Given the description of an element on the screen output the (x, y) to click on. 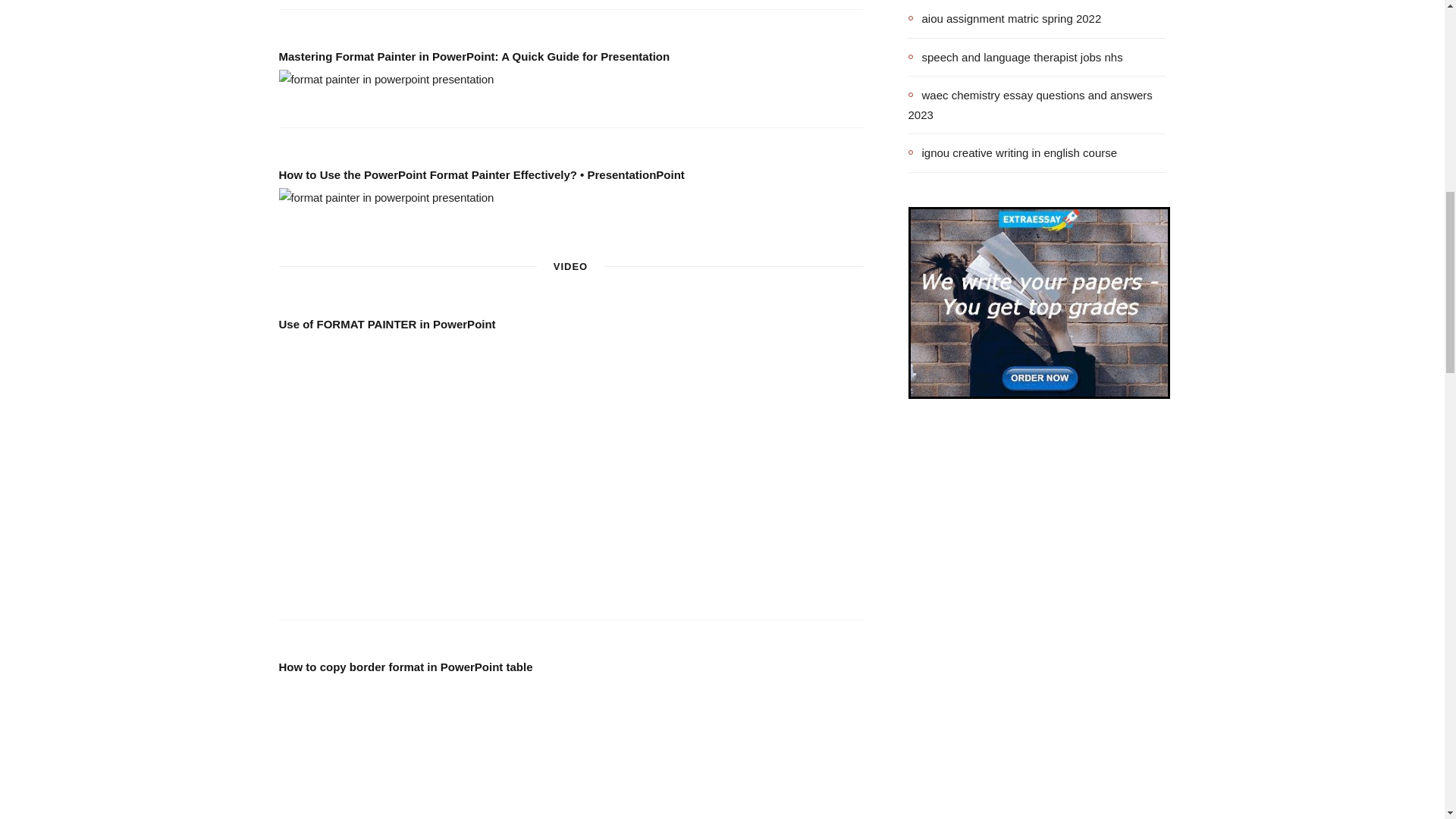
speech and language therapist jobs nhs (1015, 56)
ignou creative writing in english course (1013, 152)
format painter in powerpoint presentation (387, 79)
aiou assignment matric spring 2022 (1005, 18)
waec chemistry essay questions and answers 2023 (1037, 104)
format painter in powerpoint presentation (387, 198)
